Given the description of an element on the screen output the (x, y) to click on. 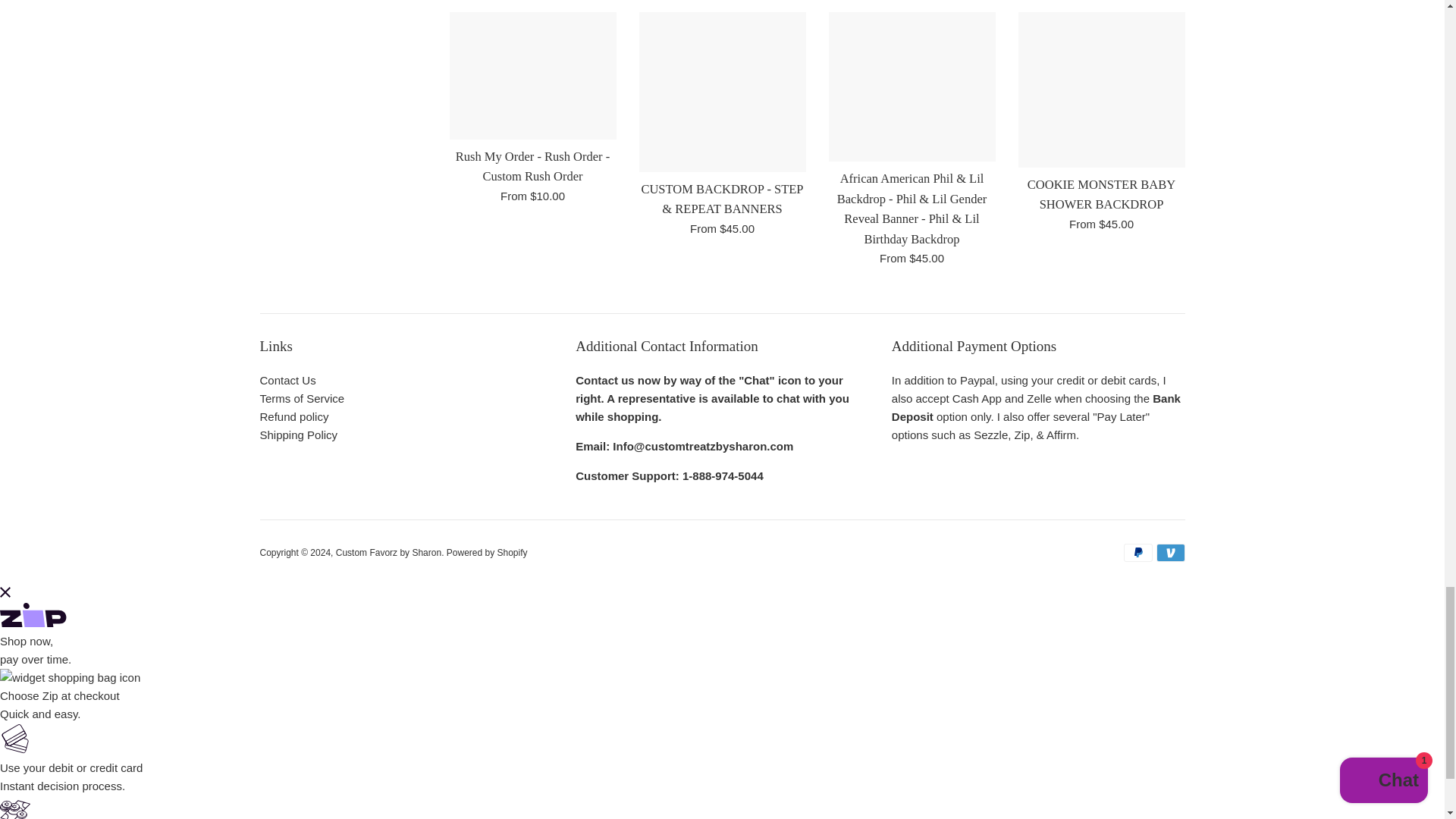
Rush My Order - Rush Order - Custom Rush Order (531, 75)
COOKIE MONSTER BABY SHOWER BACKDROP (1101, 89)
Venmo (1170, 552)
PayPal (1138, 552)
